Given the description of an element on the screen output the (x, y) to click on. 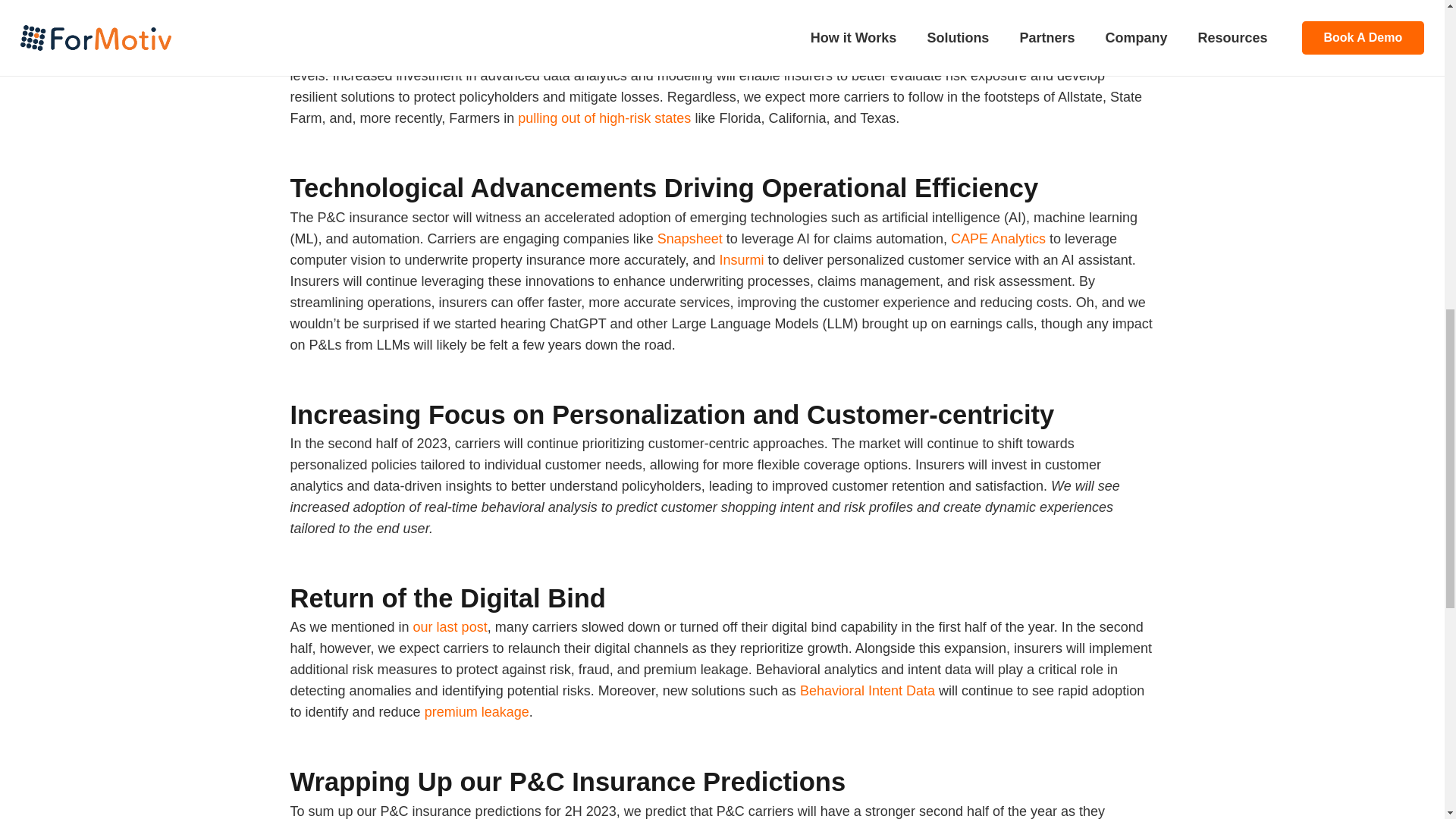
Snapsheet (690, 237)
our last post (450, 626)
premium leakage (477, 711)
Back to top (1413, 37)
CAPE Analytics (997, 237)
 pulling out of high-risk states (601, 118)
Behavioral Intent Data (866, 690)
Insurmi (740, 258)
